Given the description of an element on the screen output the (x, y) to click on. 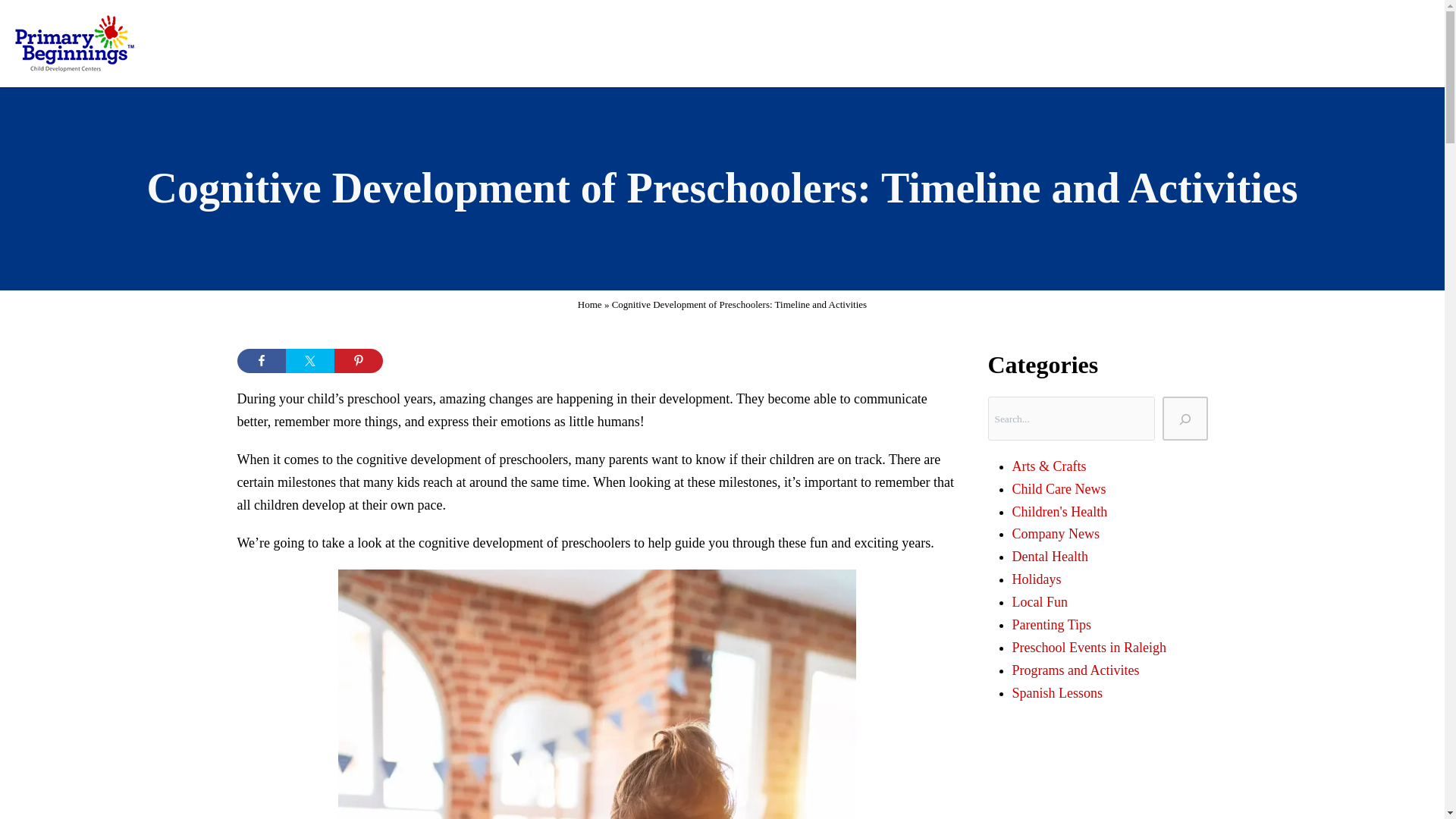
Share on Twitter (309, 360)
Share on Facebook (260, 360)
Share on Pinterest (357, 360)
